Given the description of an element on the screen output the (x, y) to click on. 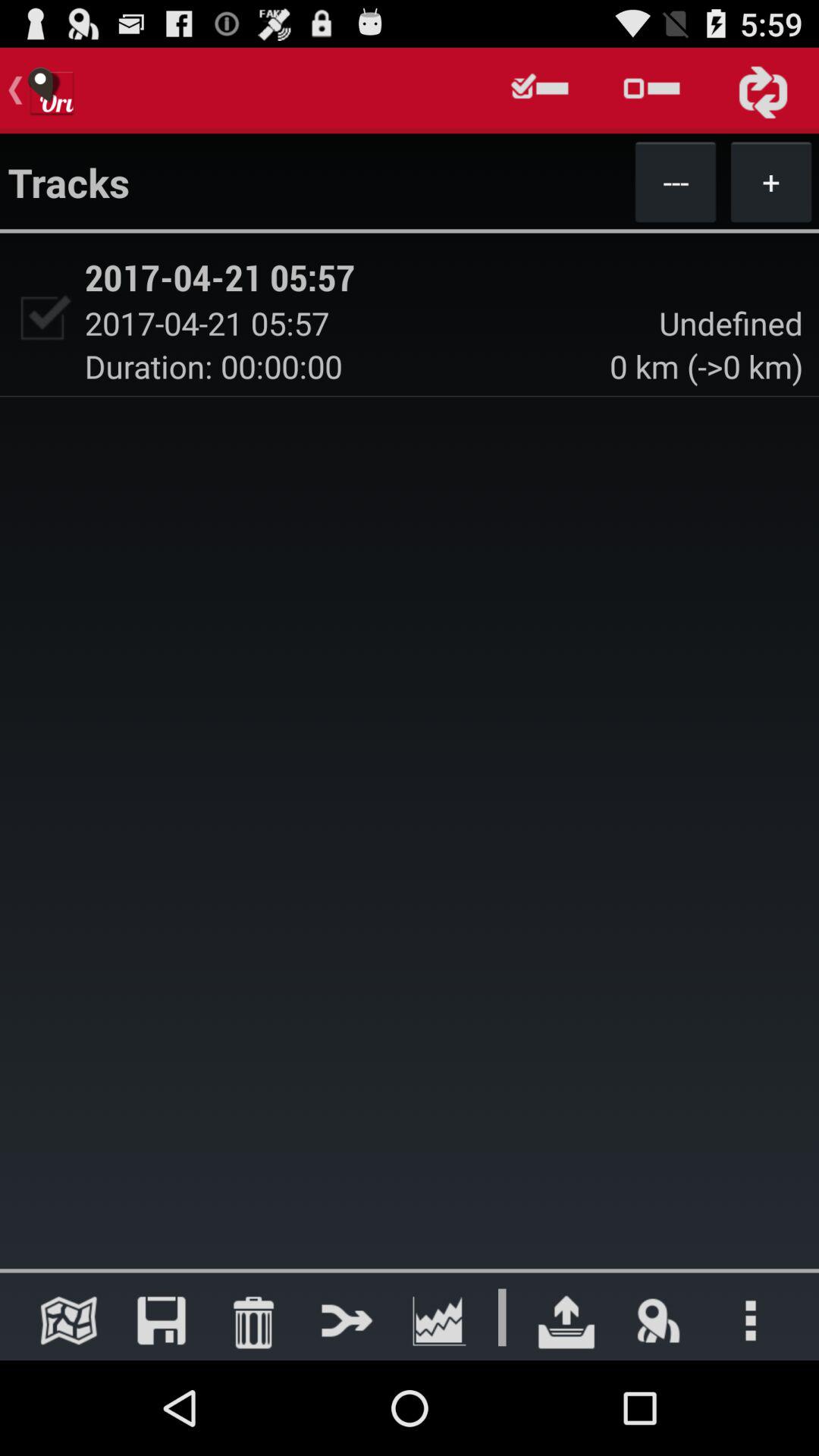
turn on the --- icon (675, 181)
